Given the description of an element on the screen output the (x, y) to click on. 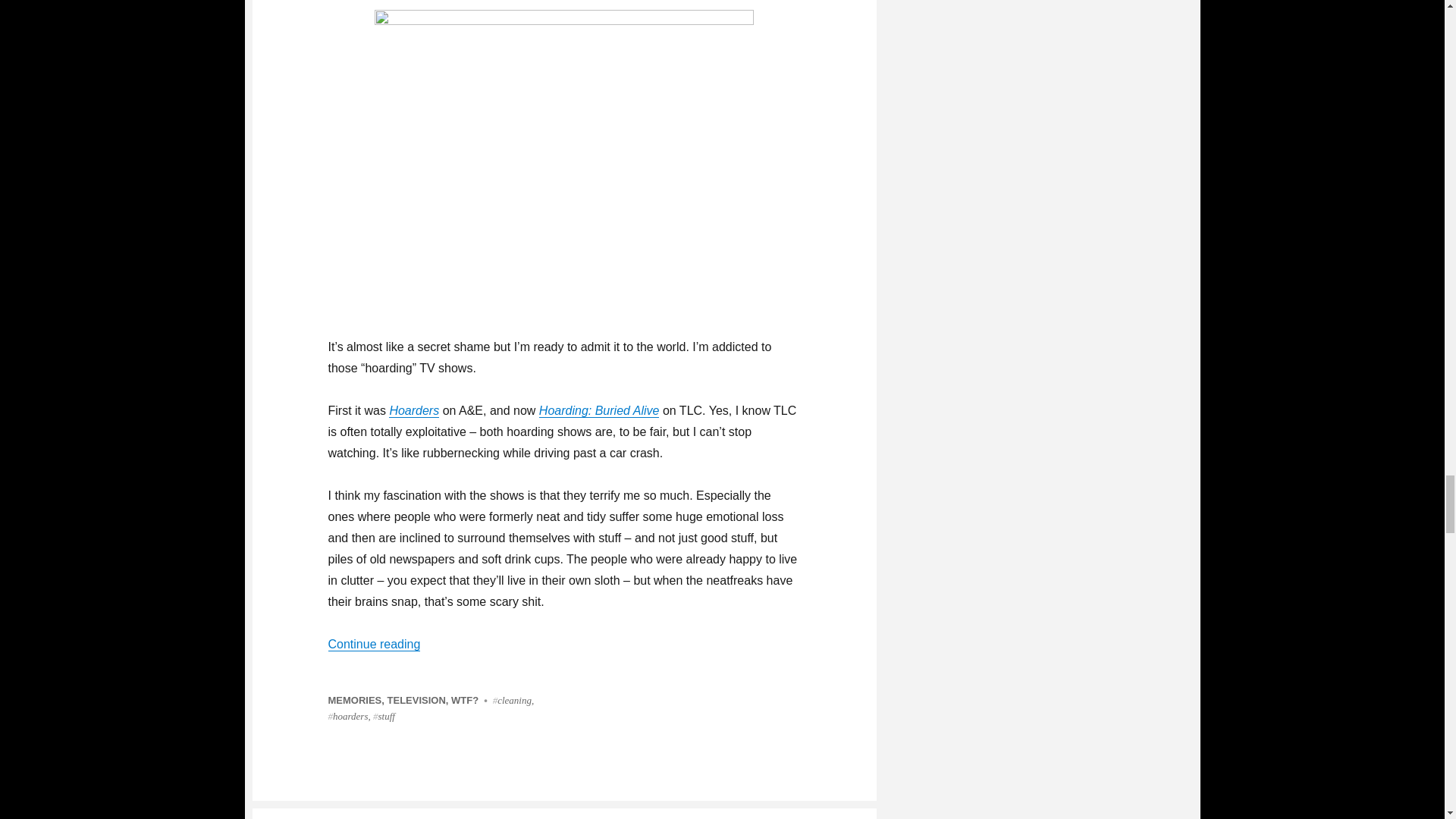
keepsakes (564, 151)
